Given the description of an element on the screen output the (x, y) to click on. 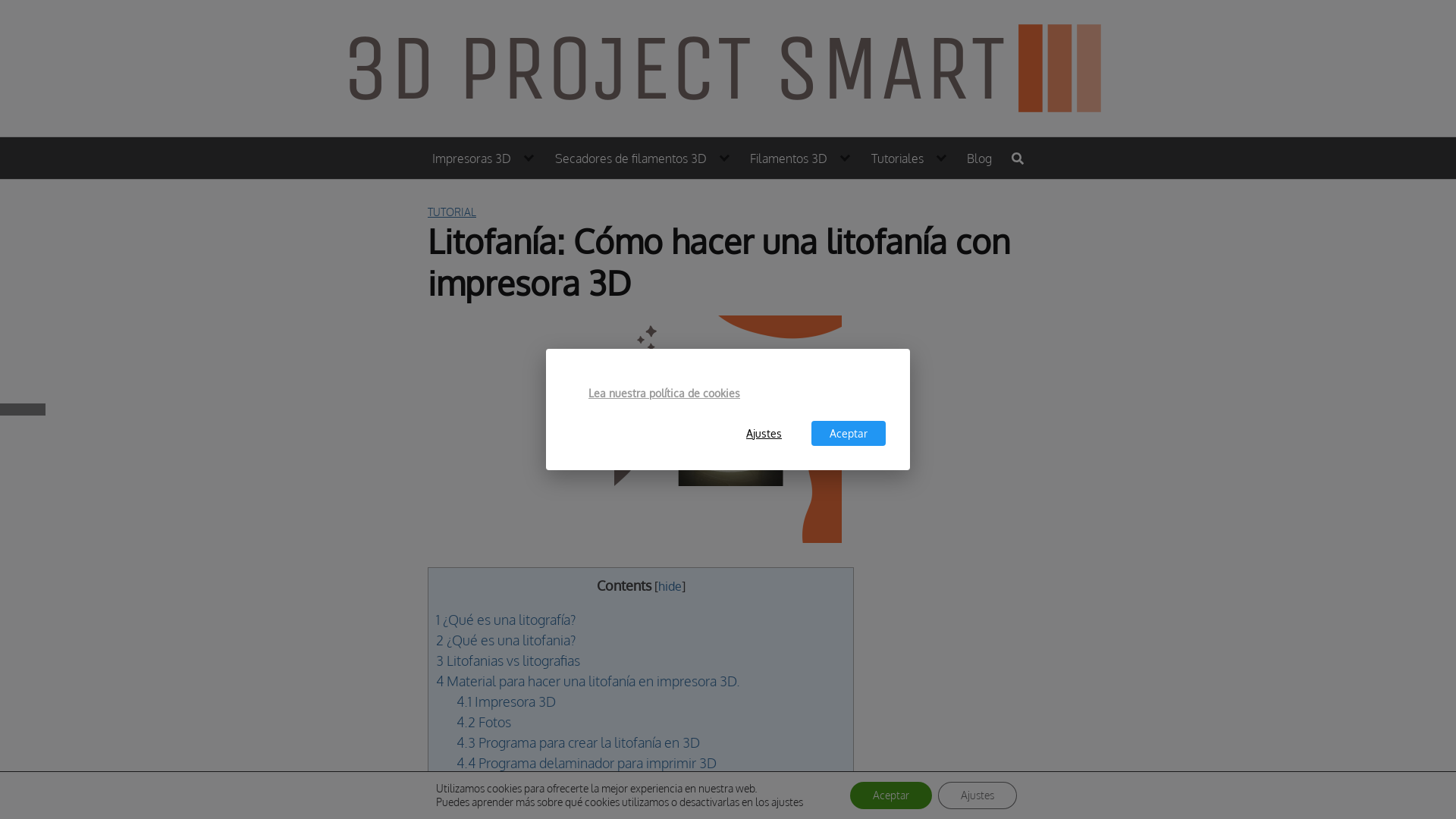
4.1 Impresora 3D Element type: text (505, 701)
Ajustes Element type: text (977, 795)
4.2 Fotos Element type: text (483, 721)
Blog Element type: text (978, 157)
Aceptar Element type: text (848, 432)
3 Litofanias vs litografias Element type: text (508, 660)
Aceptar Element type: text (890, 795)
Tutoriales Element type: text (909, 157)
4.5 Filamento para impresoras 3D Element type: text (556, 783)
Impresoras 3D Element type: text (483, 157)
4.4 Programa delaminador para imprimir 3D Element type: text (586, 762)
Ajustes Element type: text (764, 432)
hide Element type: text (669, 585)
TUTORIAL Element type: text (451, 211)
Filamentos 3D Element type: text (800, 157)
Secadores de filamentos 3D Element type: text (643, 157)
